Given the description of an element on the screen output the (x, y) to click on. 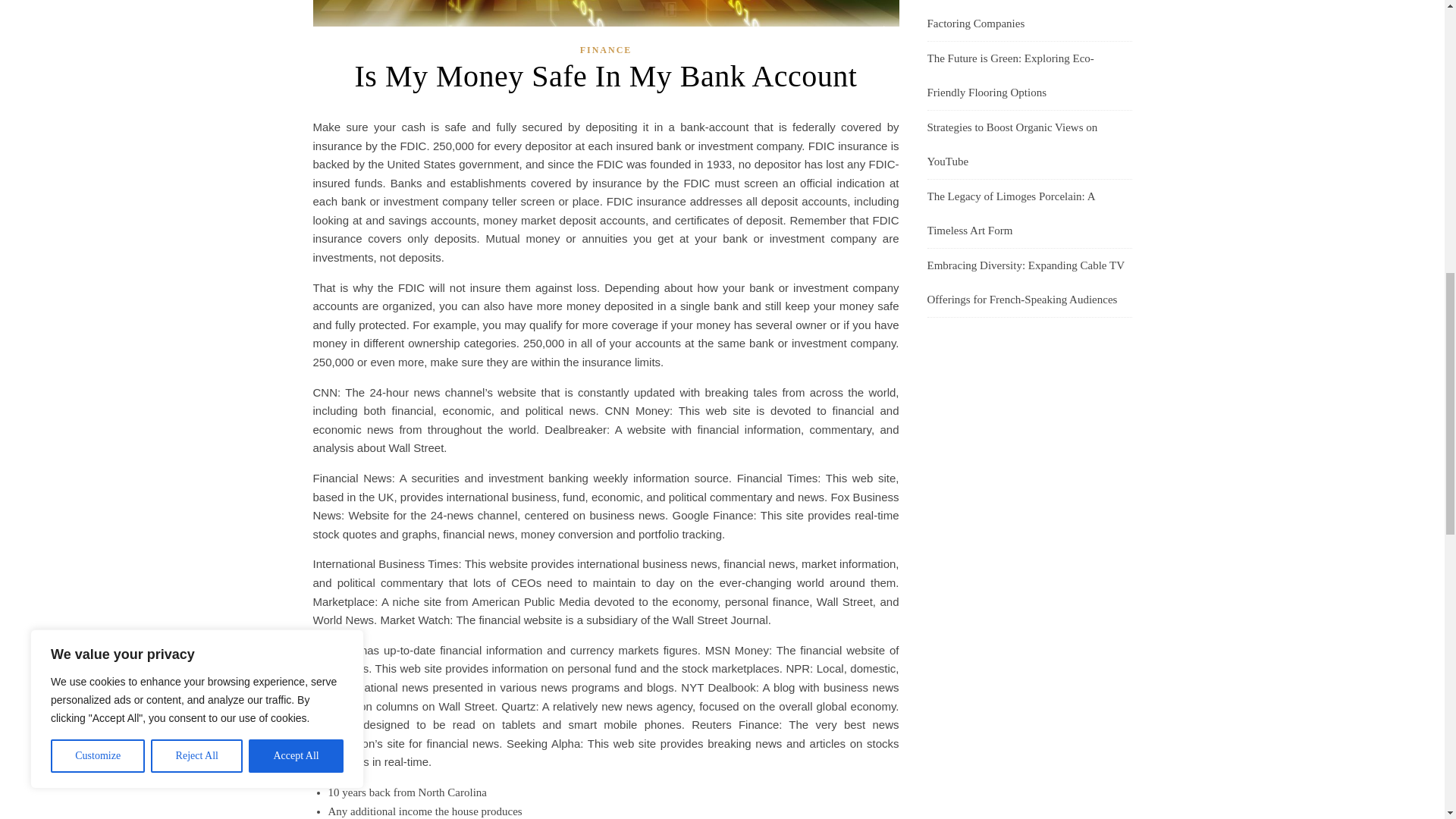
FINANCE (605, 49)
